Given the description of an element on the screen output the (x, y) to click on. 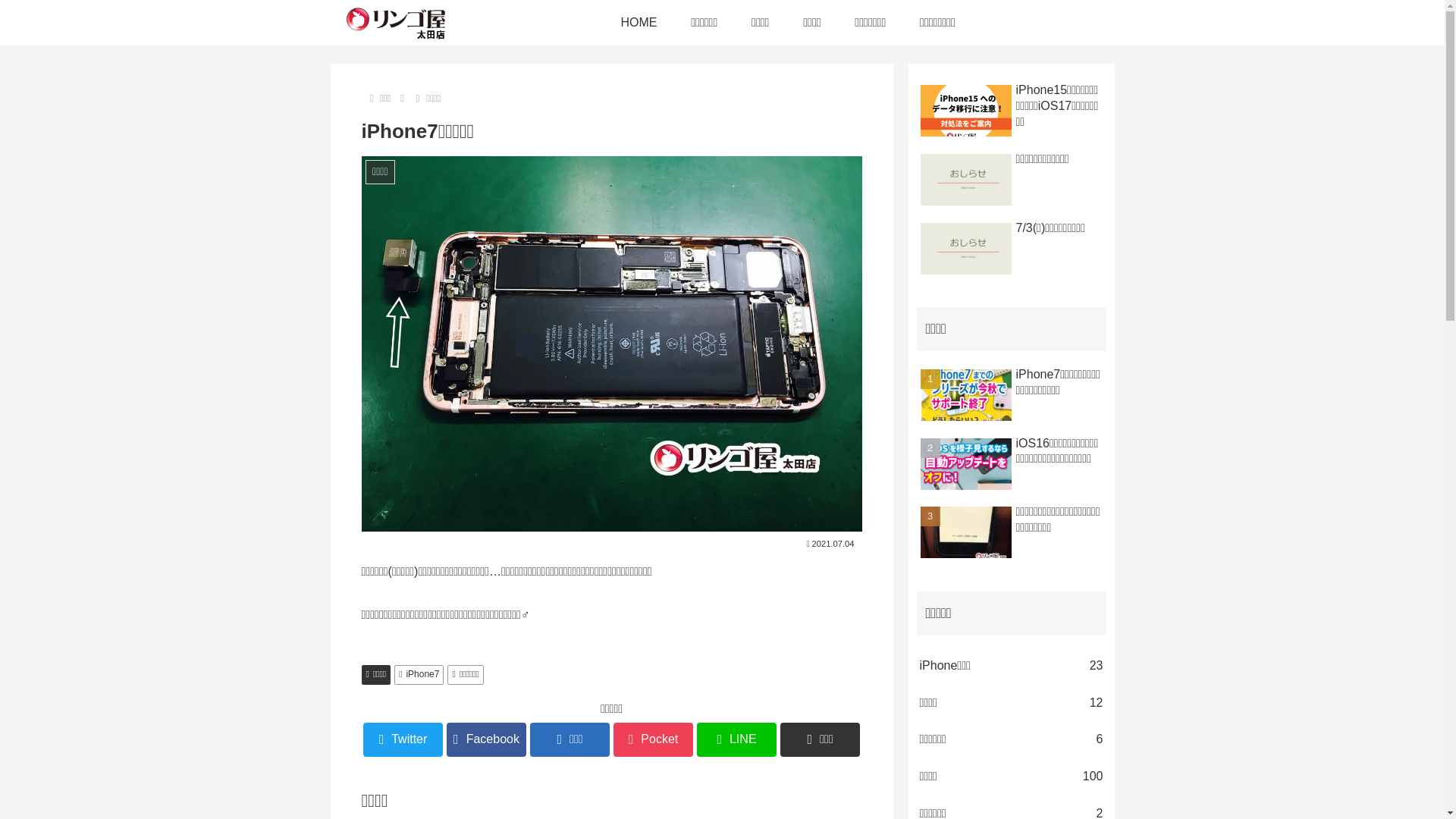
Twitter Element type: text (403, 739)
Facebook Element type: text (486, 739)
LINE Element type: text (736, 739)
Pocket Element type: text (653, 739)
iPhone7 Element type: text (418, 674)
HOME Element type: text (638, 22)
